Given the description of an element on the screen output the (x, y) to click on. 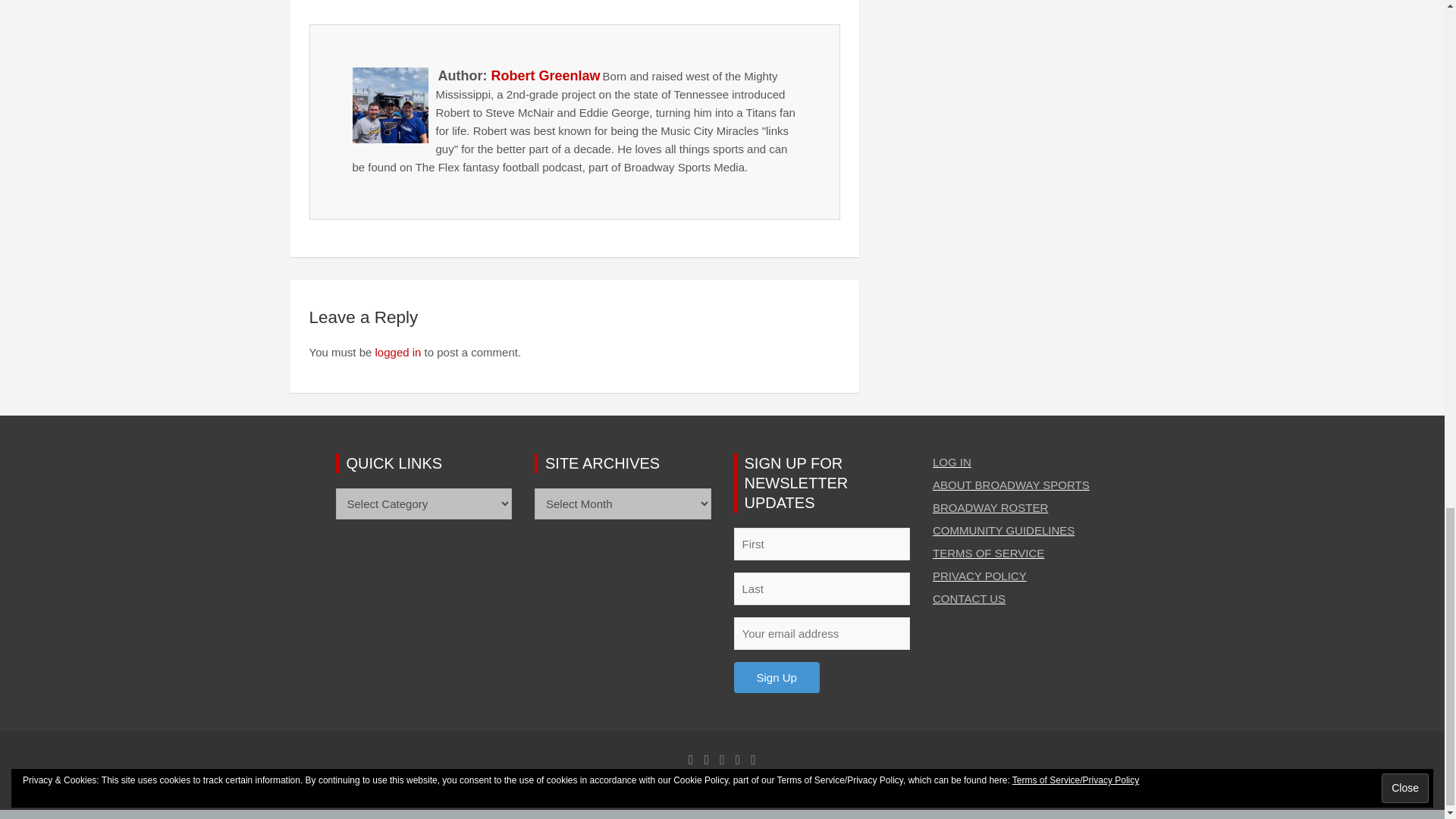
Sign Up (776, 676)
Broadway Sports Media (536, 789)
